Given the description of an element on the screen output the (x, y) to click on. 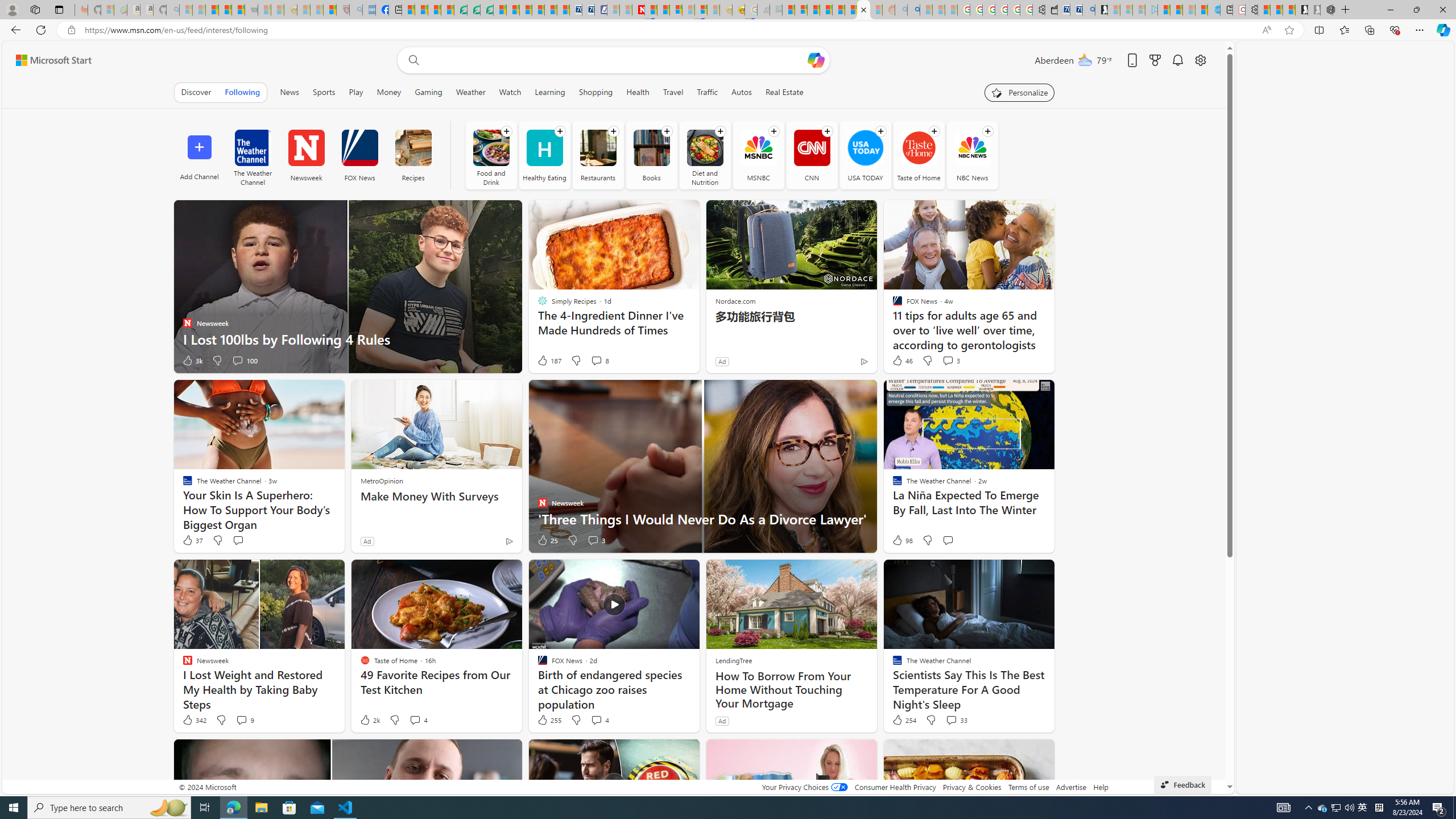
Books (651, 147)
FOX News (359, 147)
Play (355, 92)
2k Like (368, 719)
Wallet (1050, 9)
Books (651, 155)
View comments 8 Comment (598, 360)
Autos (741, 92)
Restaurants (597, 147)
MSNBC (758, 155)
